Given the description of an element on the screen output the (x, y) to click on. 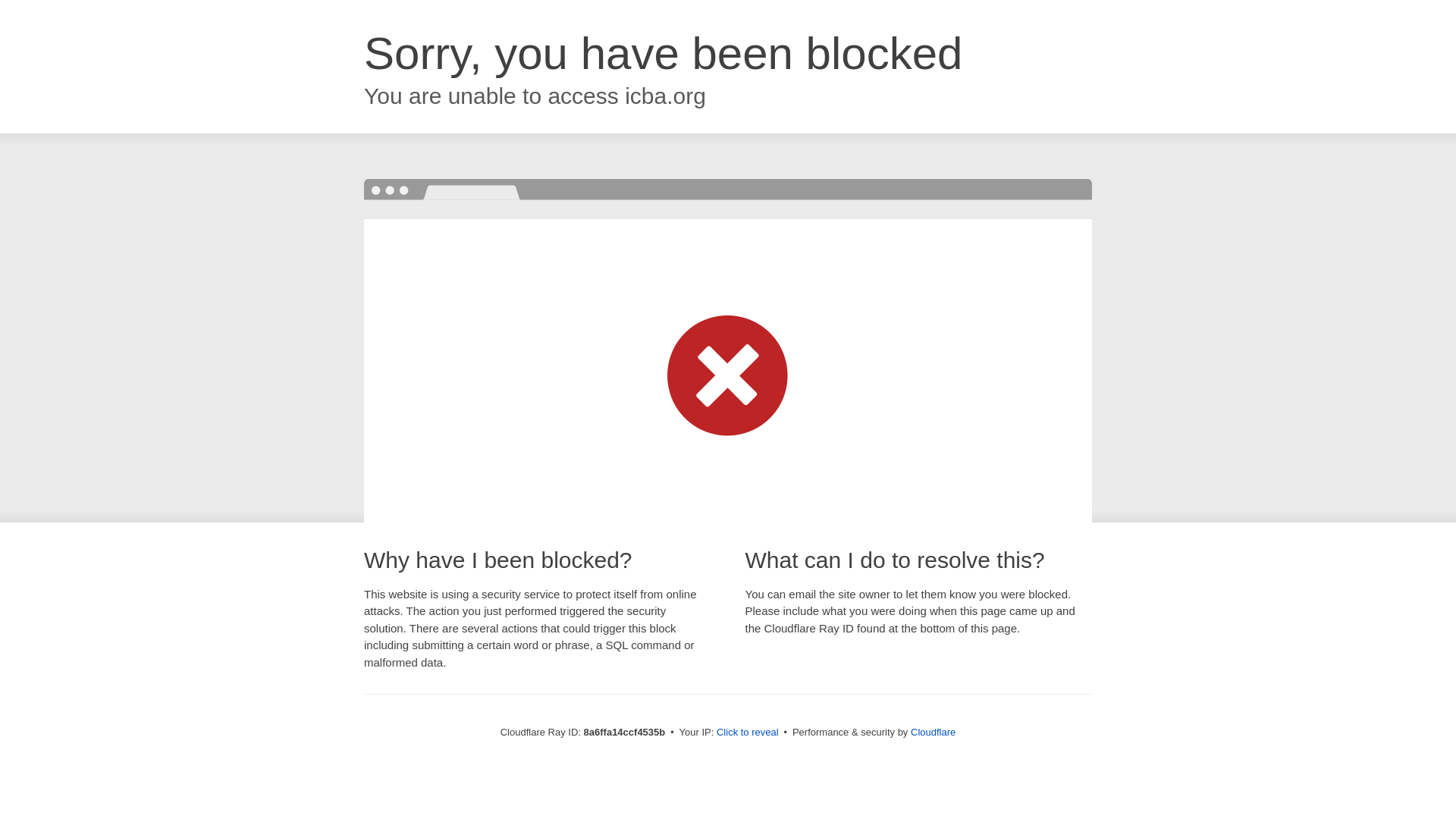
Cloudflare (933, 731)
Click to reveal (747, 732)
